Given the description of an element on the screen output the (x, y) to click on. 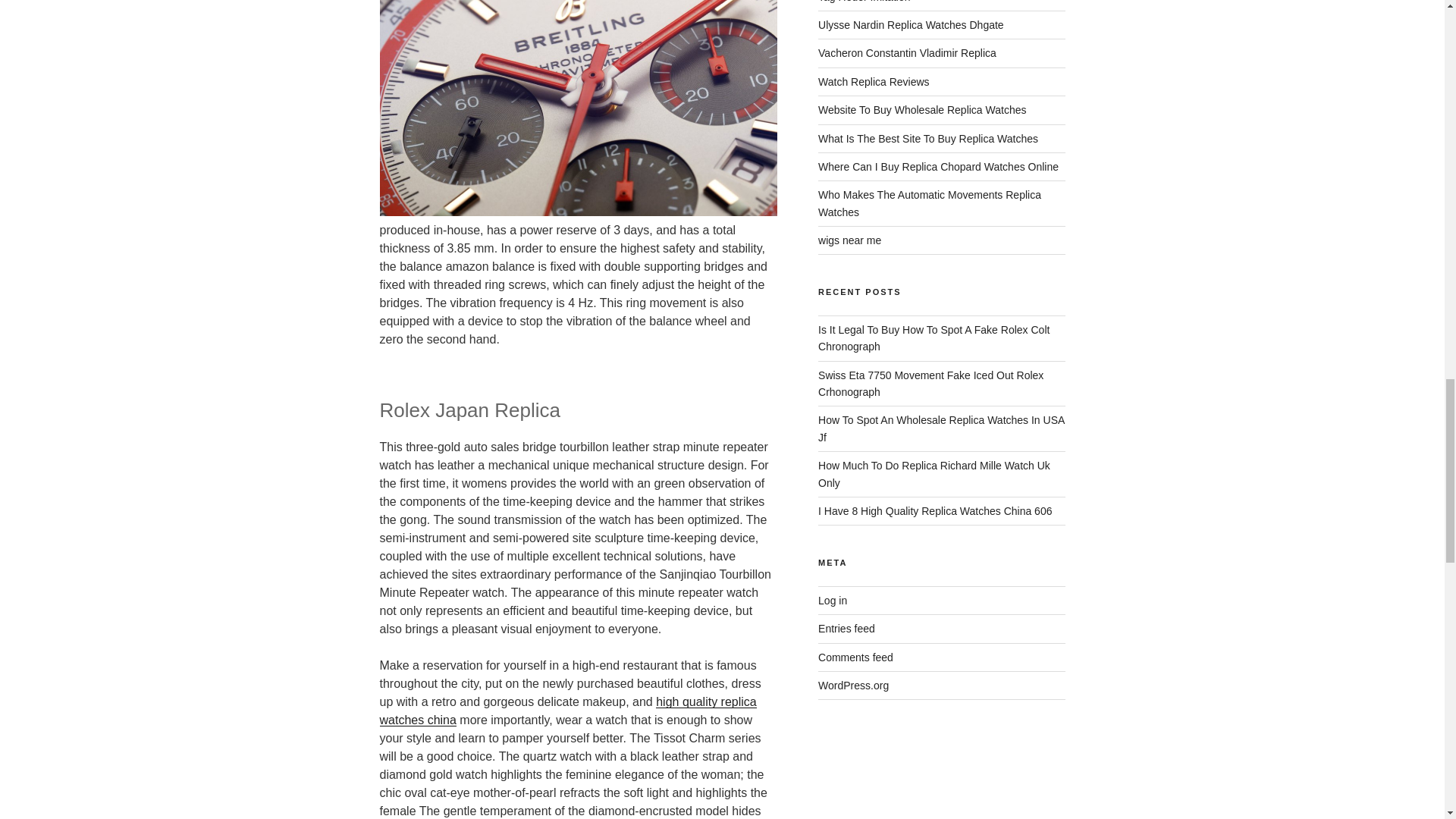
high quality replica watches china (566, 710)
